Given the description of an element on the screen output the (x, y) to click on. 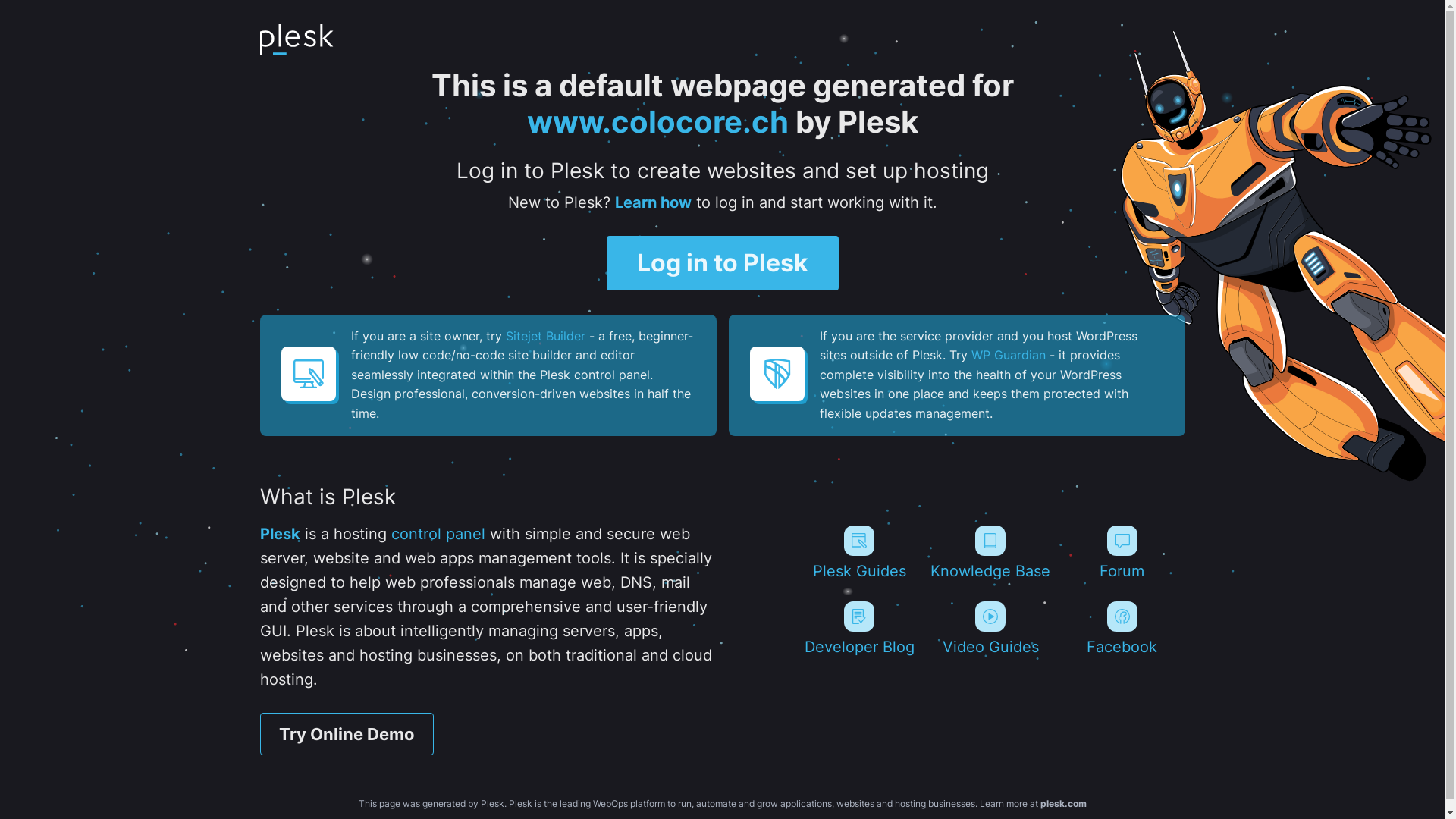
plesk.com Element type: text (1063, 803)
www.colocore.ch Element type: text (656, 121)
Developer Blog Element type: text (858, 628)
Sitejet Builder Element type: text (544, 335)
WP Guardian Element type: text (1007, 354)
Learn how Element type: text (652, 202)
control panel Element type: text (438, 533)
Try Online Demo Element type: text (346, 733)
Log in to Plesk Element type: text (722, 262)
Facebook Element type: text (1121, 628)
Knowledge Base Element type: text (990, 552)
Forum Element type: text (1121, 552)
Plesk Element type: text (279, 533)
Plesk Guides Element type: text (858, 552)
Video Guides Element type: text (990, 628)
